Given the description of an element on the screen output the (x, y) to click on. 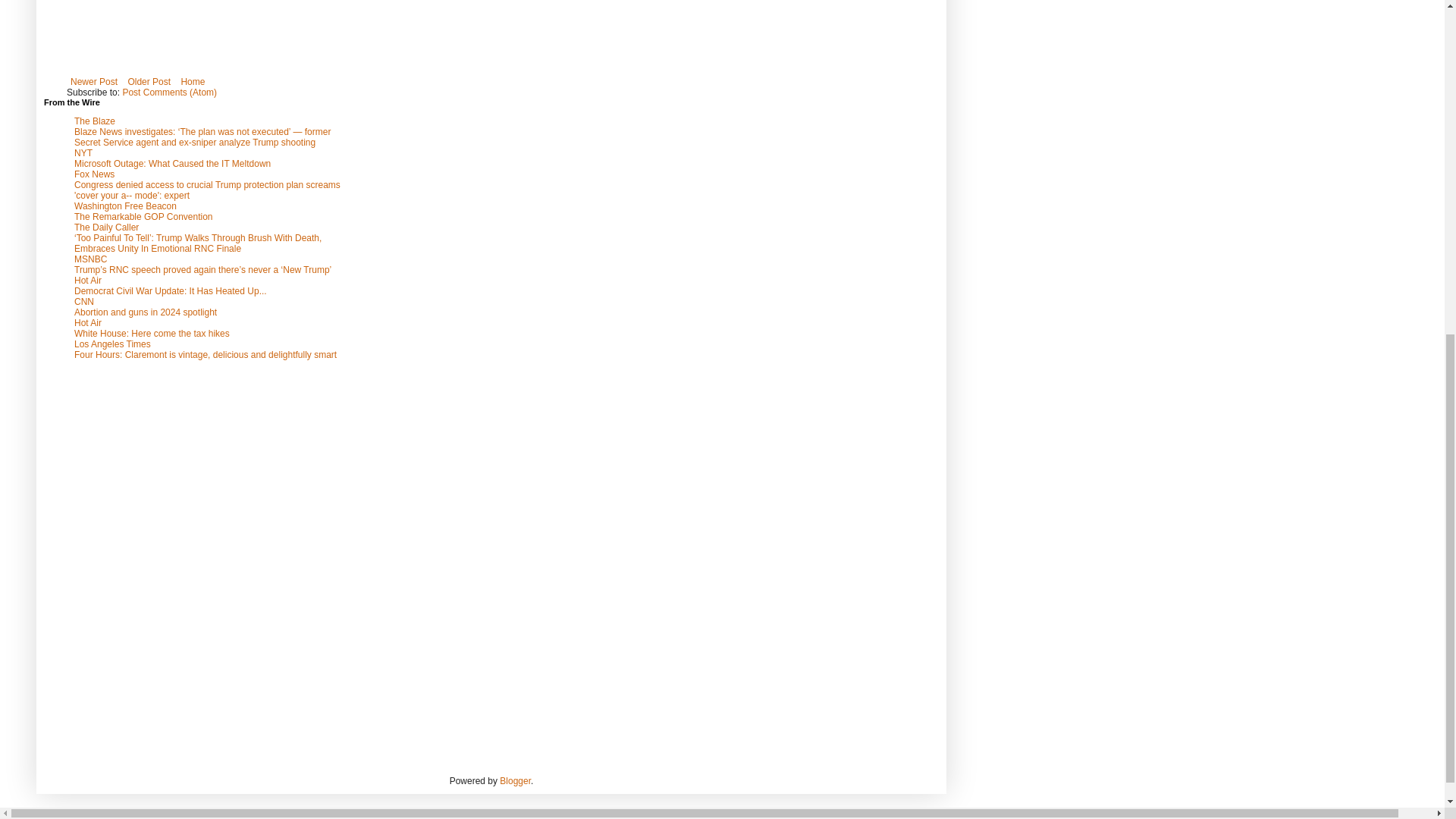
White House: Here come the tax hikes (152, 333)
MSNBC (90, 258)
Blogger (515, 780)
Hot Air (87, 280)
NYT (83, 153)
Older Post (148, 81)
Fox News (94, 173)
Abortion and guns in 2024 spotlight (145, 312)
Newer Post (93, 81)
The Daily Caller (106, 226)
Hot Air (87, 322)
Democrat Civil War Update: It Has Heated Up... (170, 290)
Los Angeles Times (112, 344)
